Given the description of an element on the screen output the (x, y) to click on. 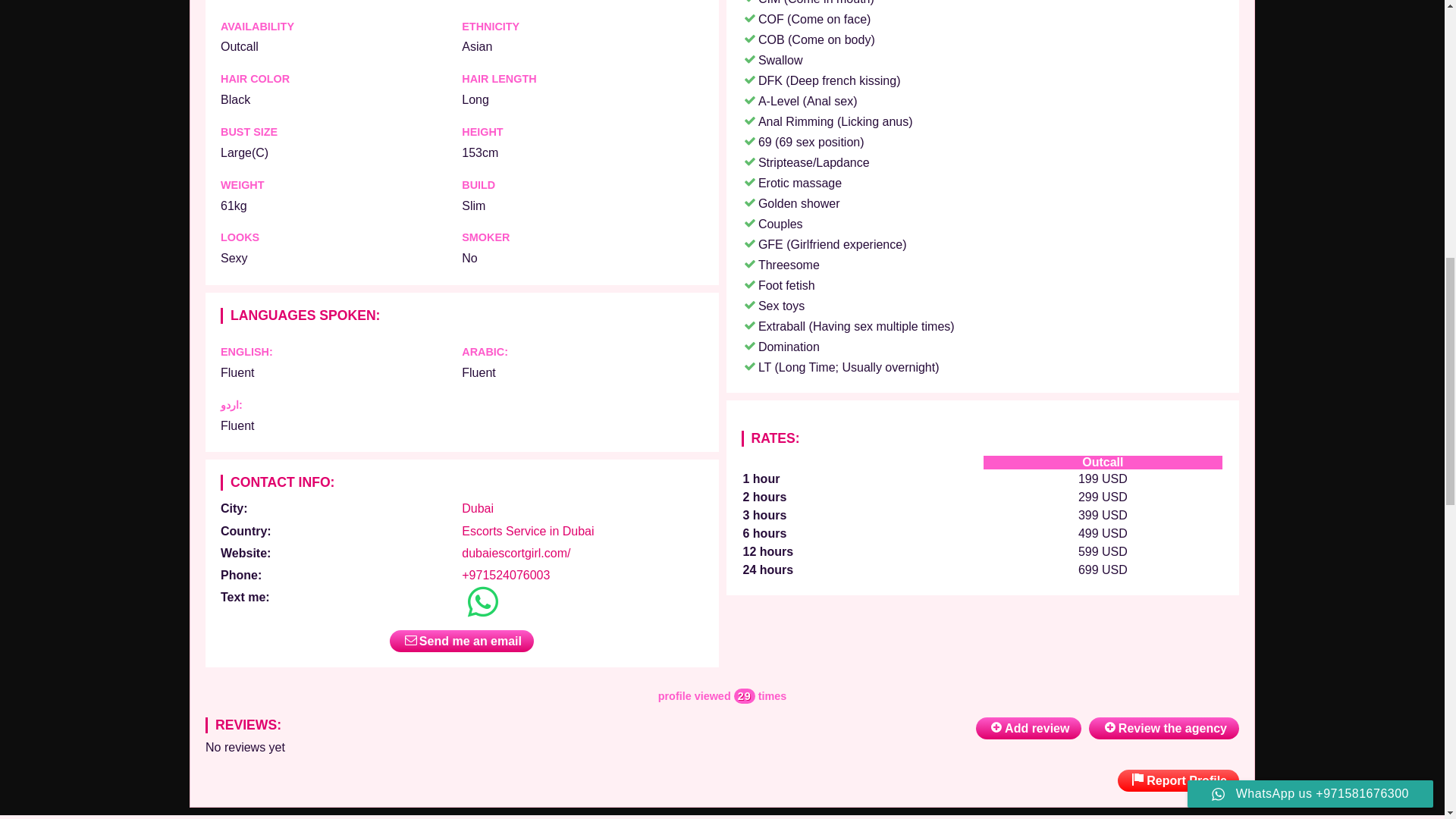
Review the agency (1164, 728)
Escorts Service in Dubai (527, 530)
Escorts Service in Dubai (527, 530)
Dubai (477, 508)
Dubai (477, 508)
